Given the description of an element on the screen output the (x, y) to click on. 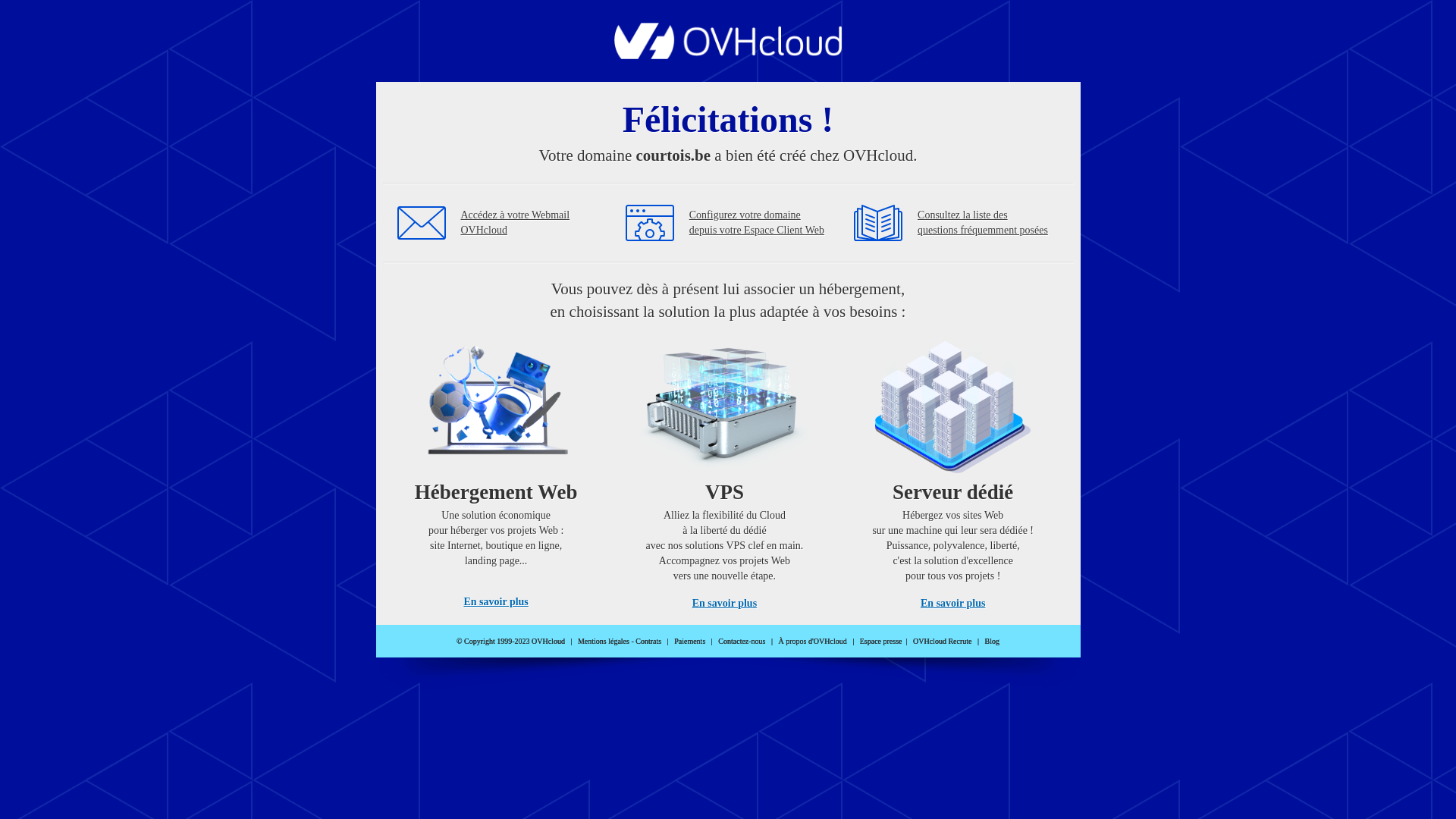
Contactez-nous Element type: text (741, 641)
VPS Element type: hover (724, 469)
Configurez votre domaine
depuis votre Espace Client Web Element type: text (756, 222)
En savoir plus Element type: text (724, 602)
En savoir plus Element type: text (495, 601)
En savoir plus Element type: text (952, 602)
Paiements Element type: text (689, 641)
OVHcloud Recrute Element type: text (942, 641)
Blog Element type: text (992, 641)
OVHcloud Element type: hover (727, 54)
Espace presse Element type: text (880, 641)
